Given the description of an element on the screen output the (x, y) to click on. 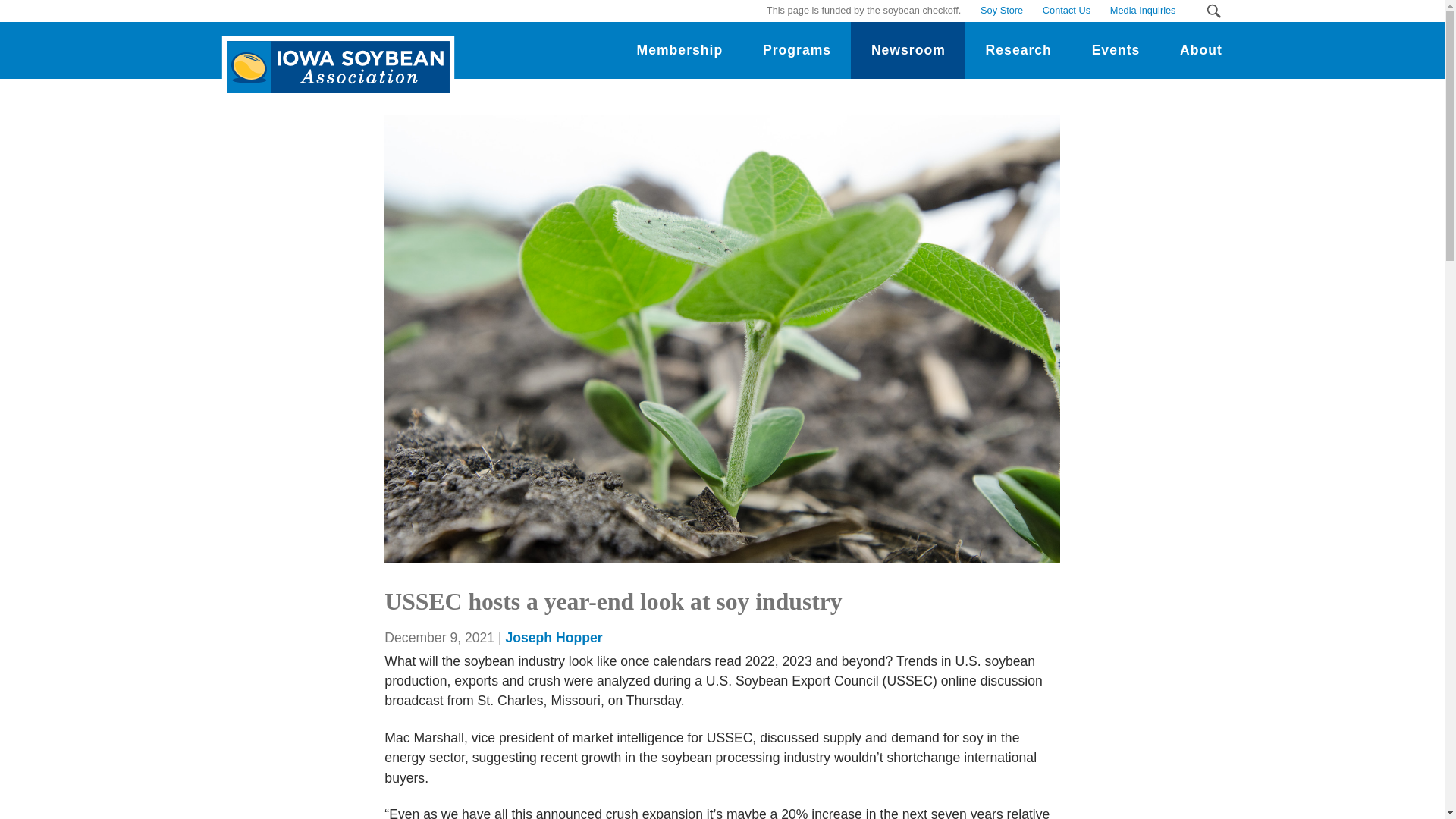
Iowa Soybean Association. Link to homepage (334, 54)
Research (1018, 50)
Search (1213, 11)
Events (1114, 50)
Newsroom (907, 50)
Soy Store (1001, 11)
About (1201, 50)
Membership (678, 50)
Programs (796, 50)
Contact Us (1066, 11)
